Given the description of an element on the screen output the (x, y) to click on. 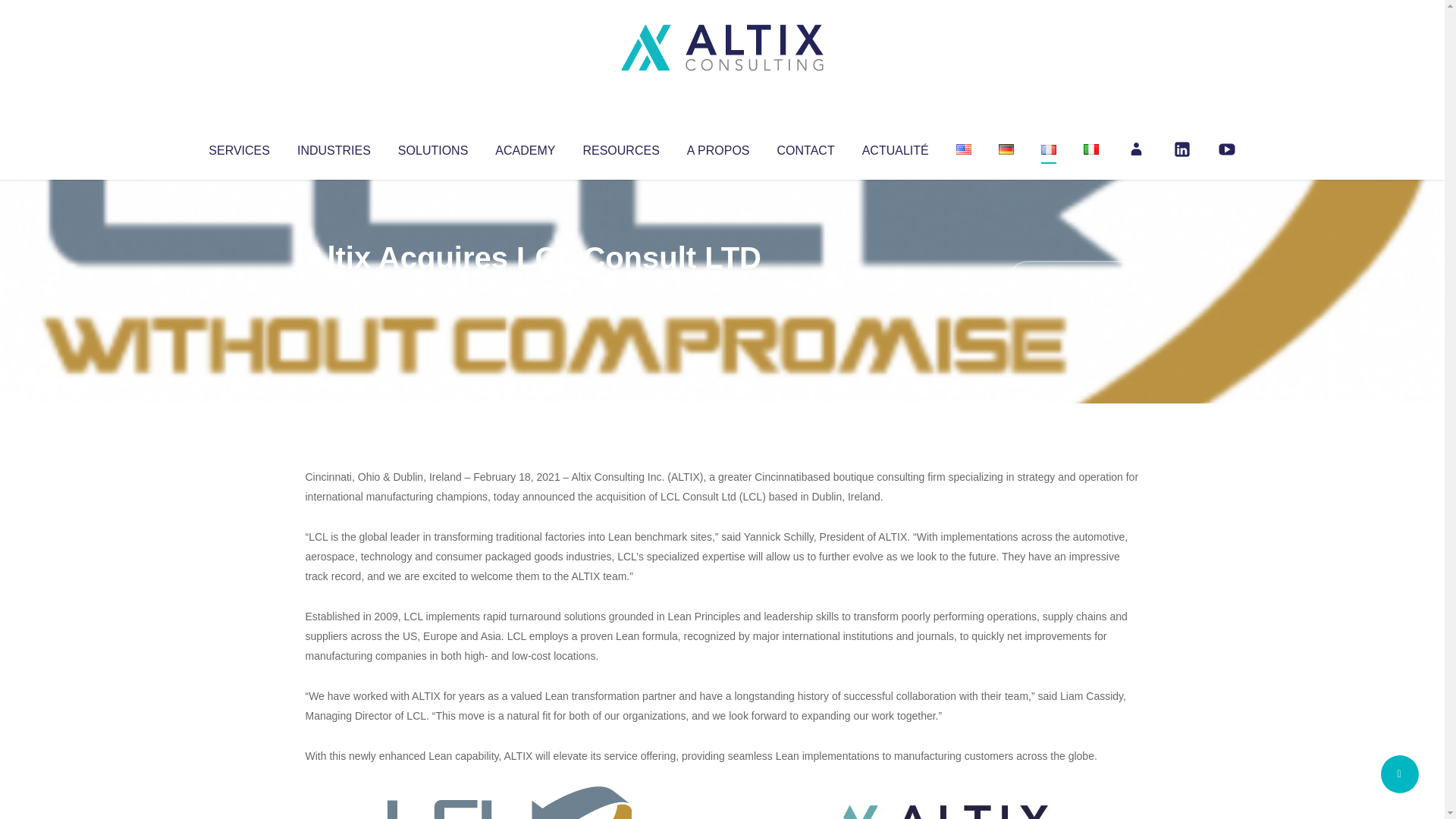
A PROPOS (718, 146)
Articles par Altix (333, 287)
No Comments (1073, 278)
Altix (333, 287)
SOLUTIONS (432, 146)
SERVICES (238, 146)
Uncategorized (530, 287)
INDUSTRIES (334, 146)
RESOURCES (620, 146)
ACADEMY (524, 146)
